Given the description of an element on the screen output the (x, y) to click on. 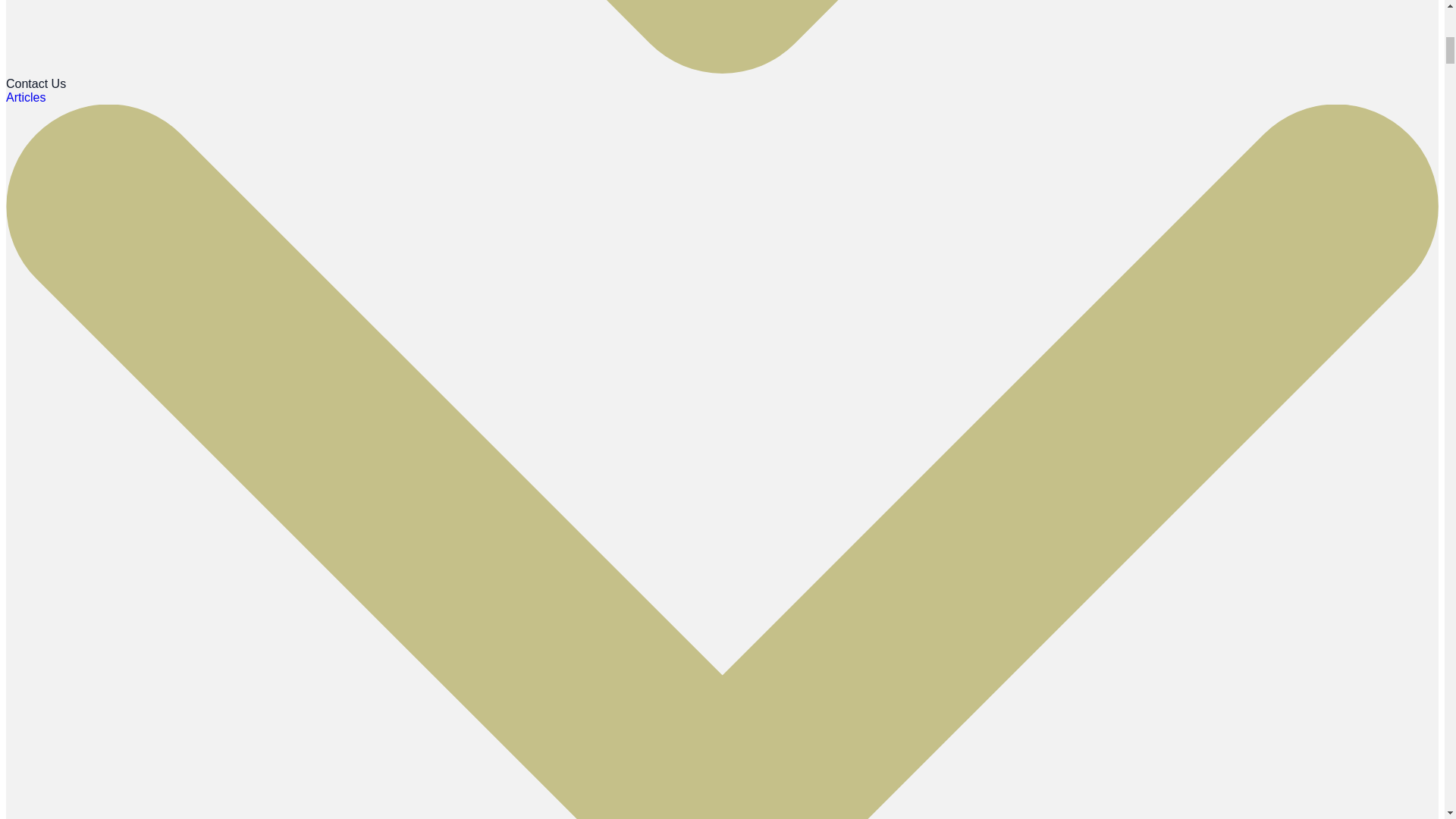
Contact Us (35, 83)
